Given the description of an element on the screen output the (x, y) to click on. 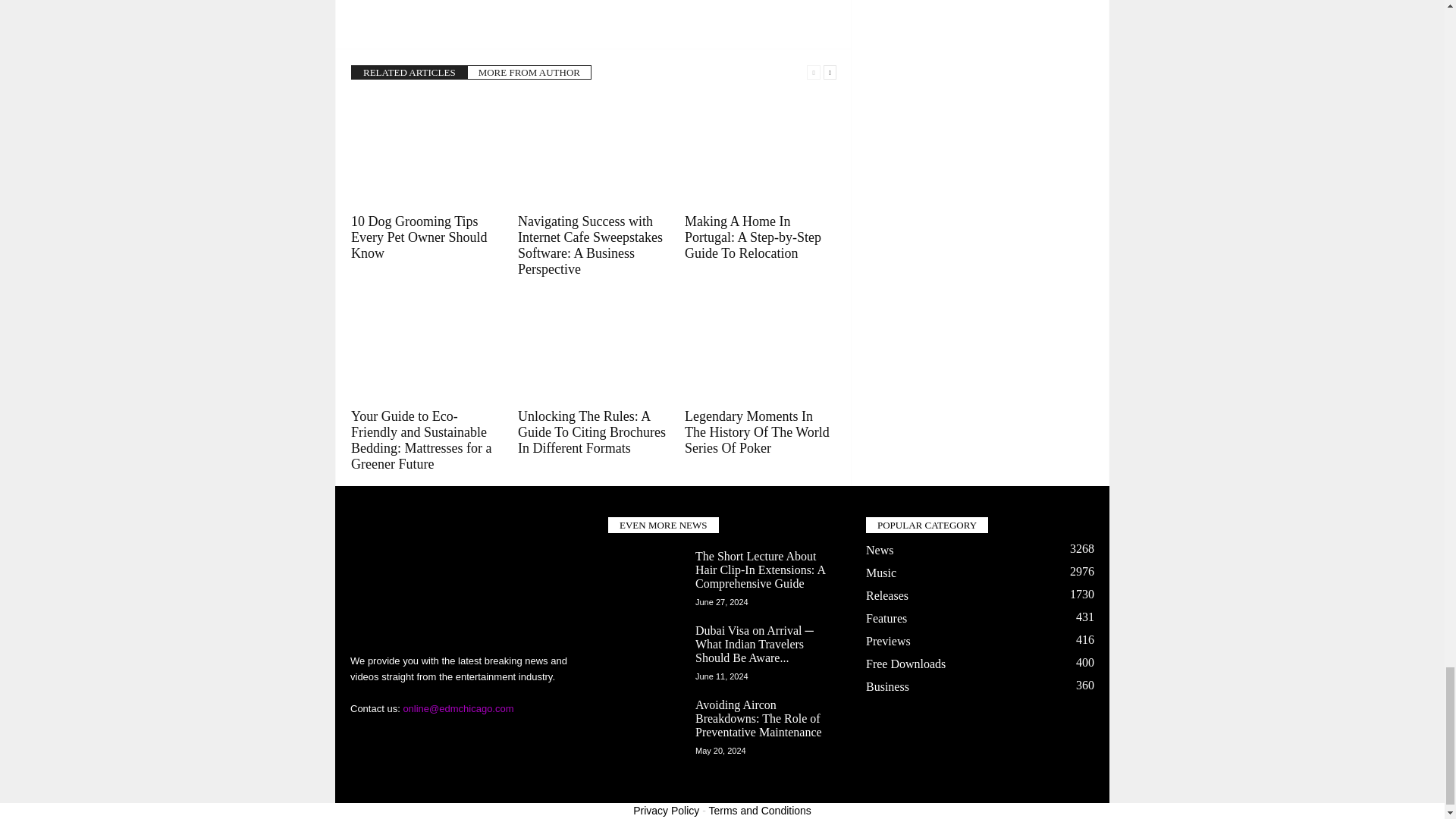
10 Dog Grooming Tips Every Pet Owner Should Know (418, 237)
10 Dog Grooming Tips Every Pet Owner Should Know (426, 152)
